Given the description of an element on the screen output the (x, y) to click on. 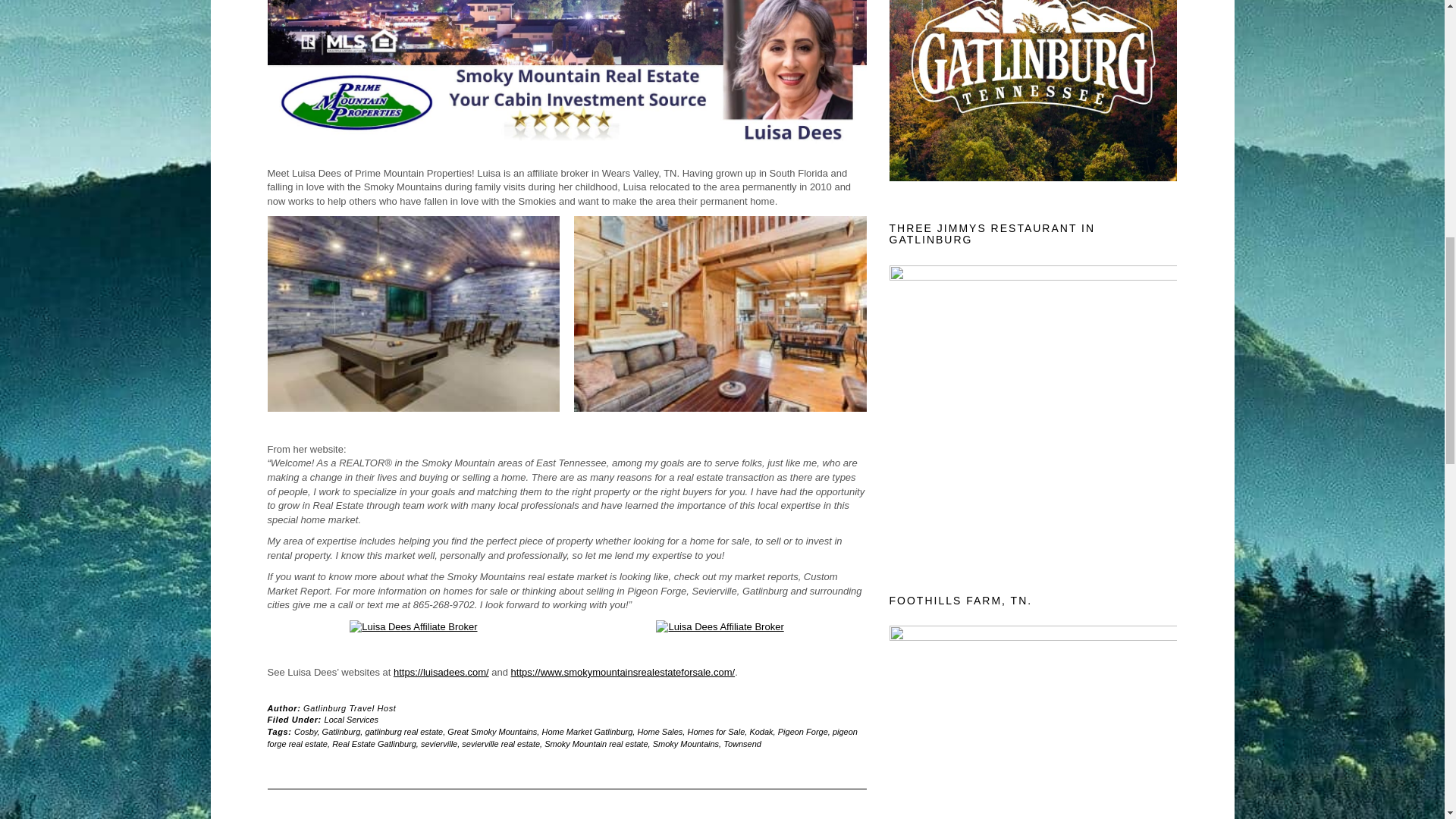
Smoky Mountains (685, 743)
Pigeon Forge (802, 731)
Foothills Farm, TN. (1032, 722)
Kodak (761, 731)
sevierville (438, 743)
Real Estate Gatlinburg (373, 743)
Local Services (351, 718)
Gatlinburg (341, 731)
Home Market Gatlinburg (586, 731)
Gatlinburg Travel Host (349, 707)
Home Sales (659, 731)
Great Smoky Mountains (491, 731)
pigeon forge real estate (561, 737)
sevierville real estate (500, 743)
gatlinburg real estate (403, 731)
